Given the description of an element on the screen output the (x, y) to click on. 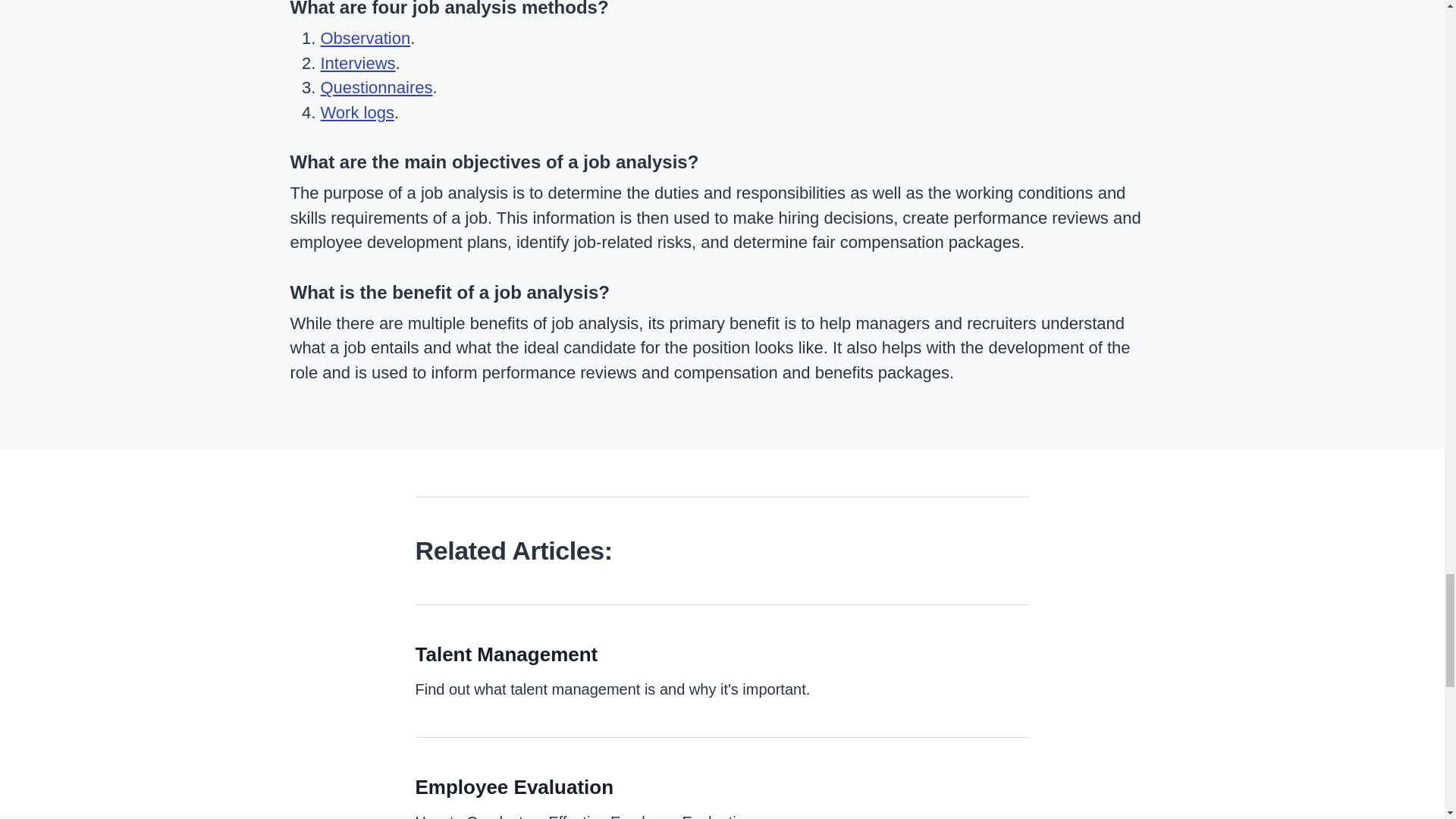
Questionnaires (376, 87)
Work logs (356, 112)
Talent Management (506, 653)
Employee Evaluation (514, 786)
Interviews (357, 63)
Observation (365, 37)
